Given the description of an element on the screen output the (x, y) to click on. 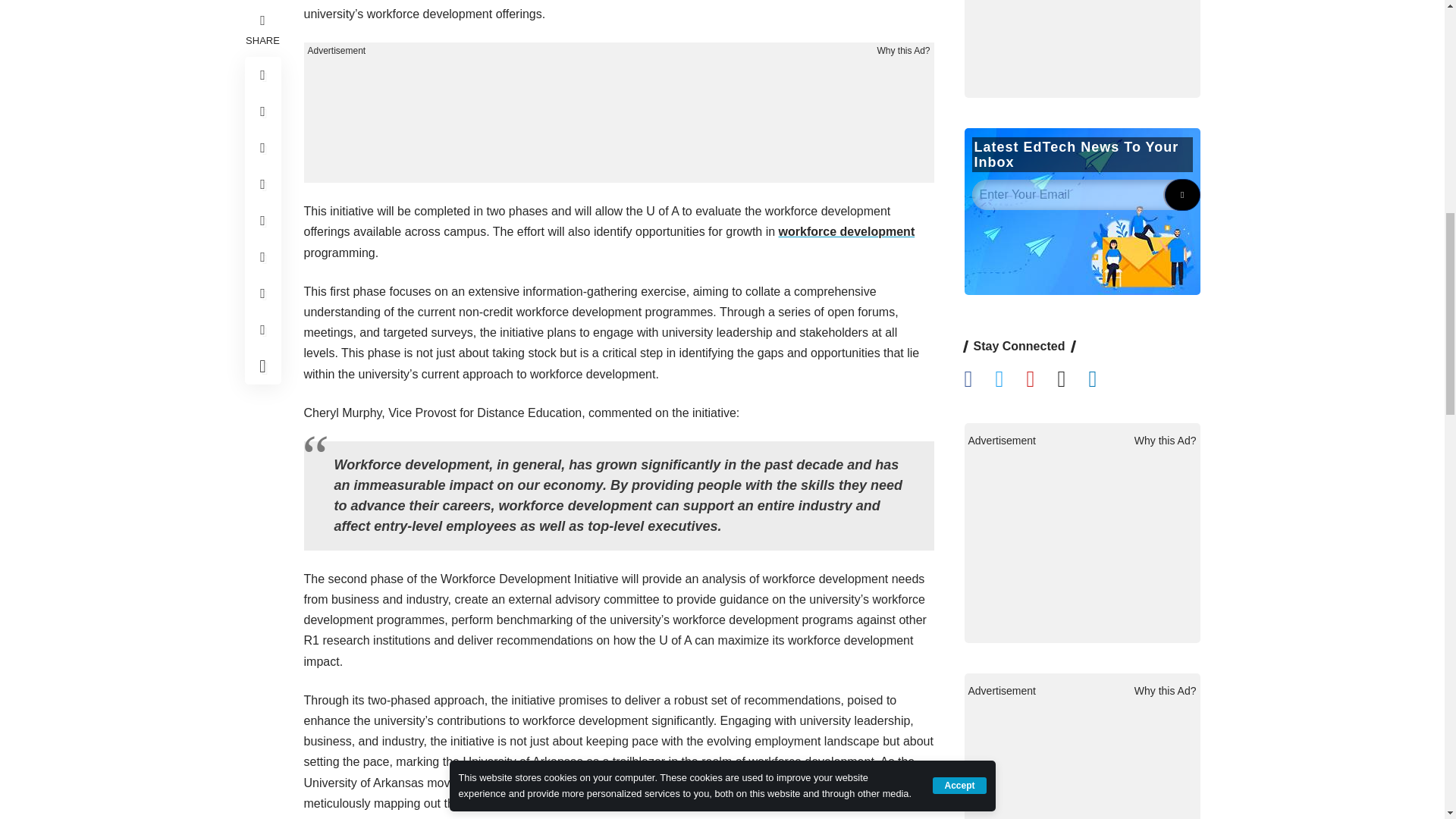
Follow EdTechReview on Facebook (979, 789)
